Given the description of an element on the screen output the (x, y) to click on. 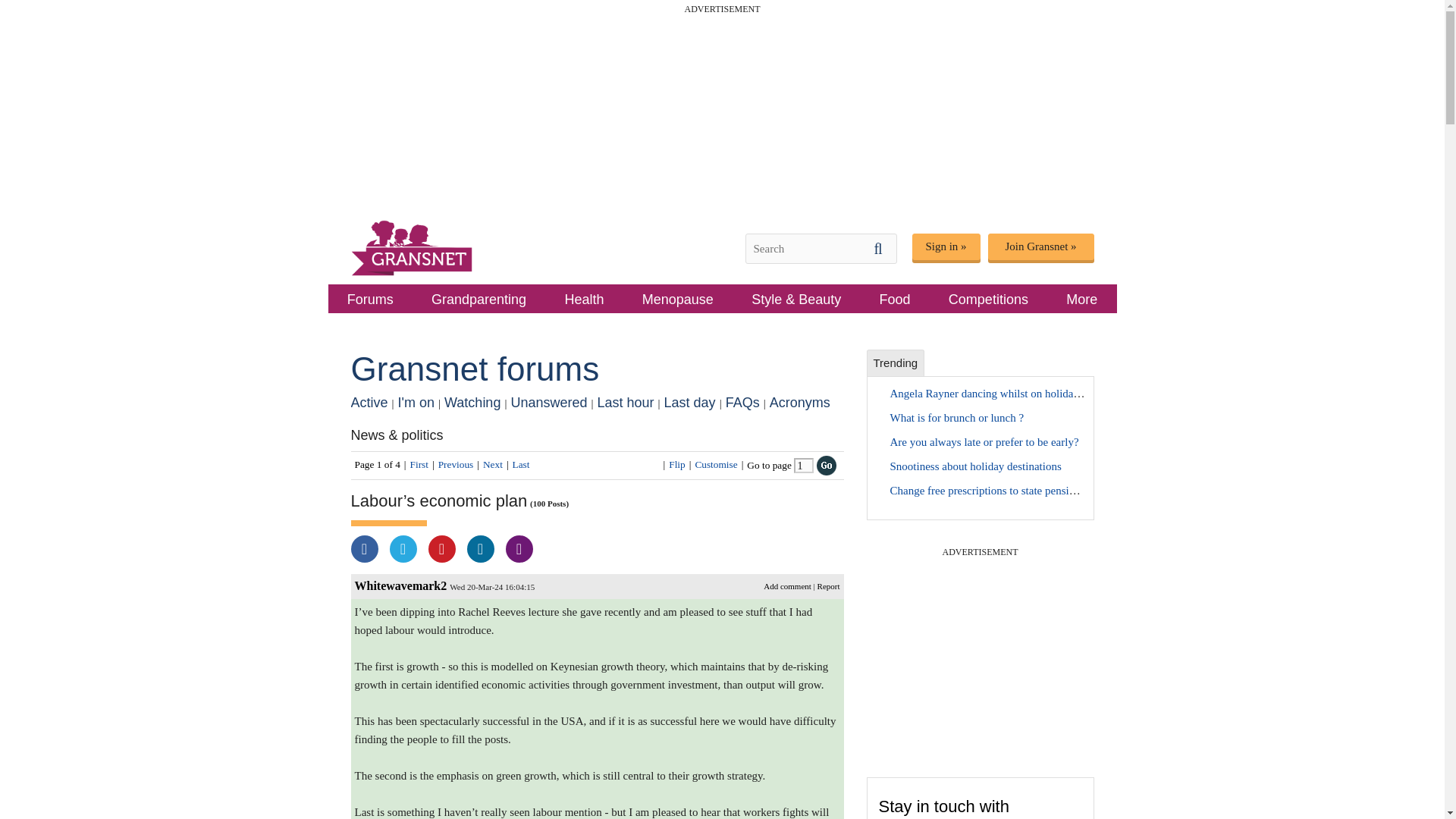
Report this post to Gransnet (828, 585)
Next page (492, 464)
Menopause (677, 298)
Add your comment to this discussion (786, 585)
1 (803, 465)
Watching (472, 402)
Share this on Linkedin (481, 548)
Send to a friend (518, 548)
Sign in to Gransnet (945, 246)
Unanswered (548, 402)
